Given the description of an element on the screen output the (x, y) to click on. 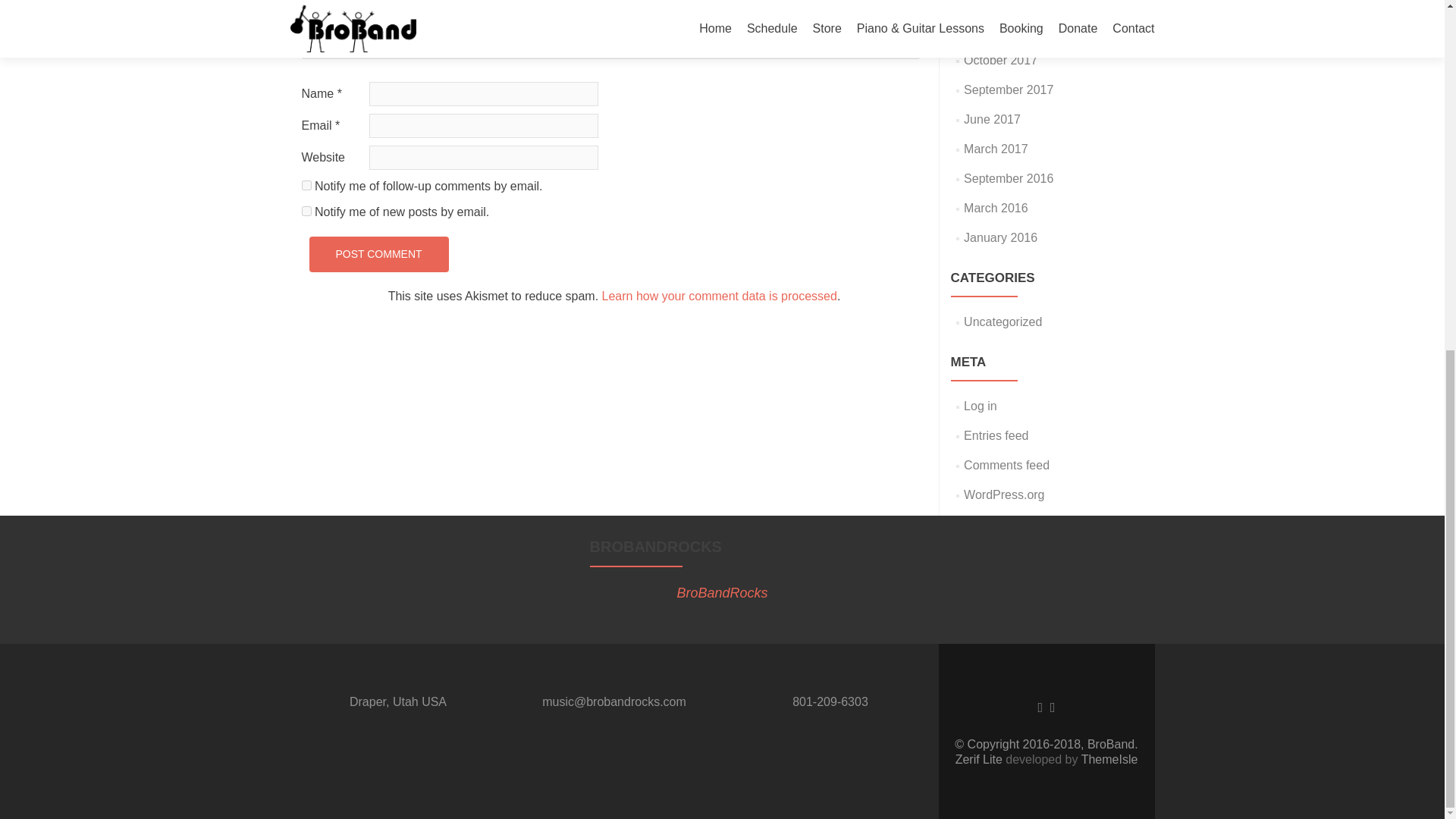
Log in (980, 405)
November 2017 (1006, 30)
January 2016 (999, 237)
Uncategorized (1002, 321)
subscribe (306, 211)
Post Comment (378, 253)
April 2018 (990, 3)
June 2017 (991, 119)
March 2016 (995, 207)
March 2017 (995, 148)
subscribe (306, 185)
September 2017 (1007, 89)
Learn how your comment data is processed (719, 295)
October 2017 (999, 60)
Post Comment (378, 253)
